Given the description of an element on the screen output the (x, y) to click on. 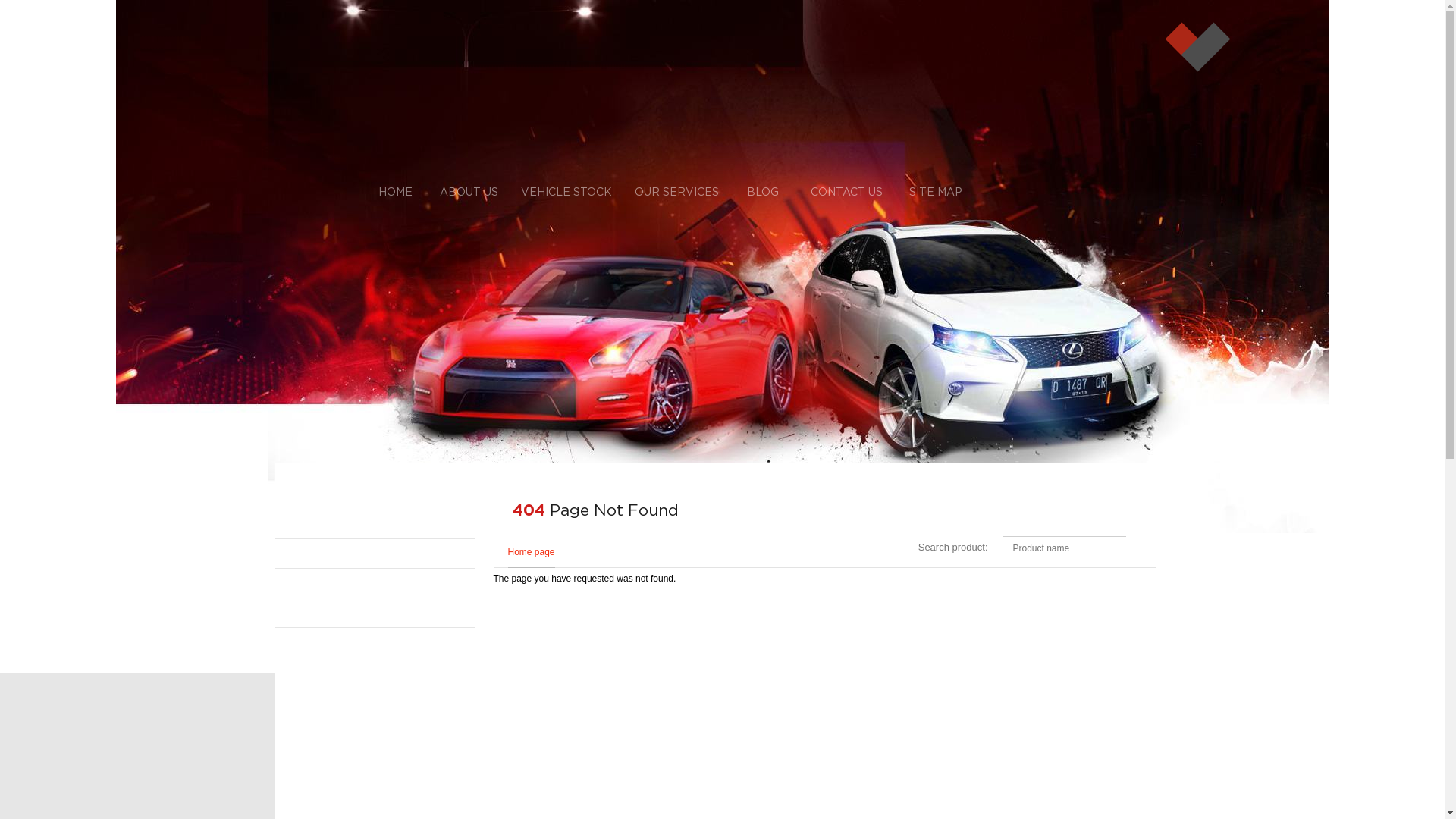
Home page Element type: text (526, 551)
VEHICLE STOCK Element type: text (566, 192)
FORD Element type: text (374, 524)
LEXUS Element type: text (374, 583)
ABOUT US Element type: text (467, 192)
OUR SERVICES Element type: text (676, 192)
HYUNDAI Element type: text (374, 553)
BLOG Element type: text (761, 192)
CONTACT US Element type: text (845, 192)
NISSAN Element type: text (374, 612)
SUBARU Element type: text (374, 642)
HOME Element type: text (394, 192)
SITE MAP Element type: text (935, 192)
